Given the description of an element on the screen output the (x, y) to click on. 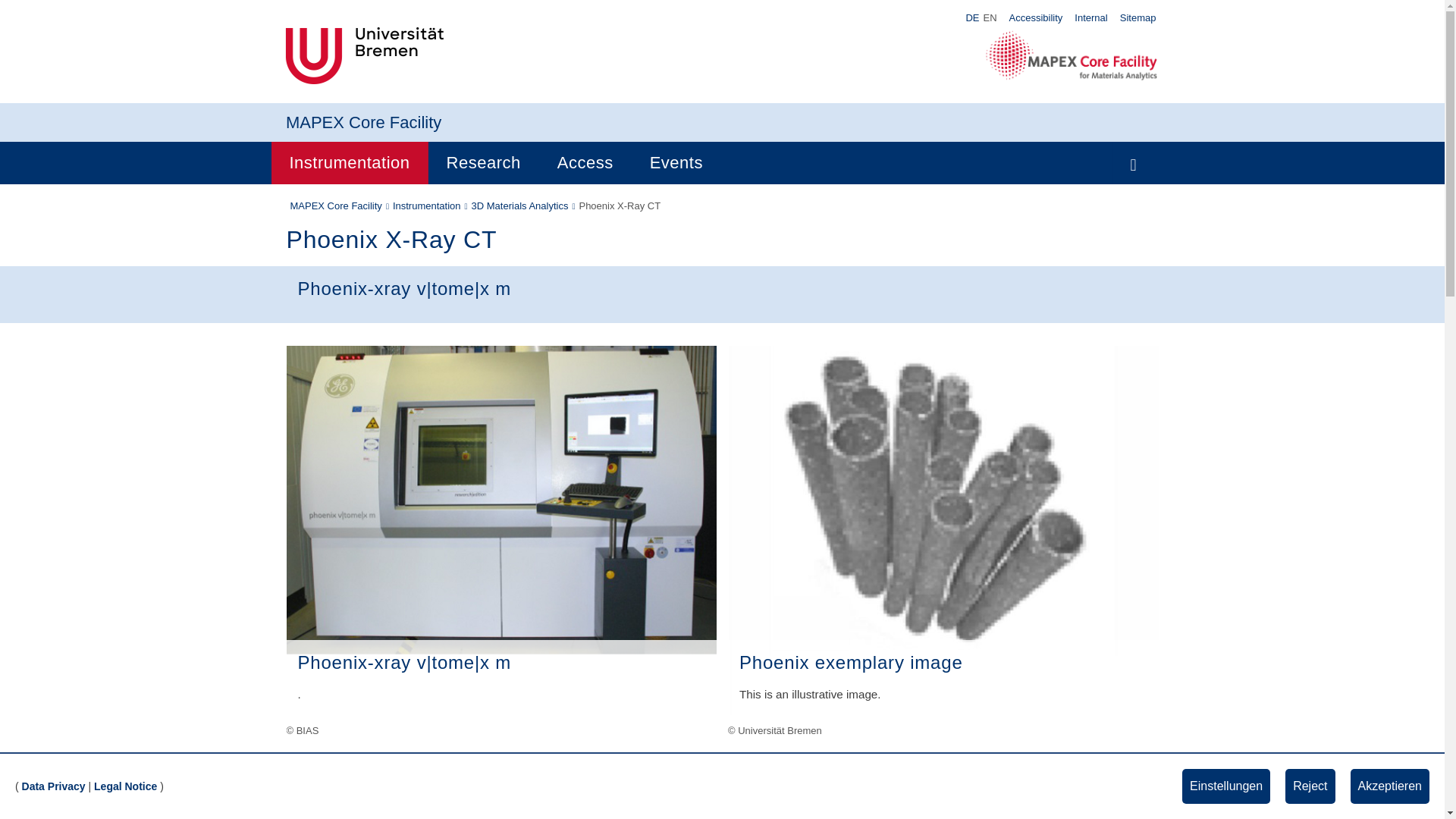
Access (584, 162)
Scroll to the bottom of the page (1411, 785)
more (817, 809)
Sitemap (1137, 16)
MAPEX Core Facility (363, 122)
Instrumentation (349, 162)
Accessibility (1035, 16)
Research (483, 162)
DE (971, 17)
Internal (1090, 16)
